Given the description of an element on the screen output the (x, y) to click on. 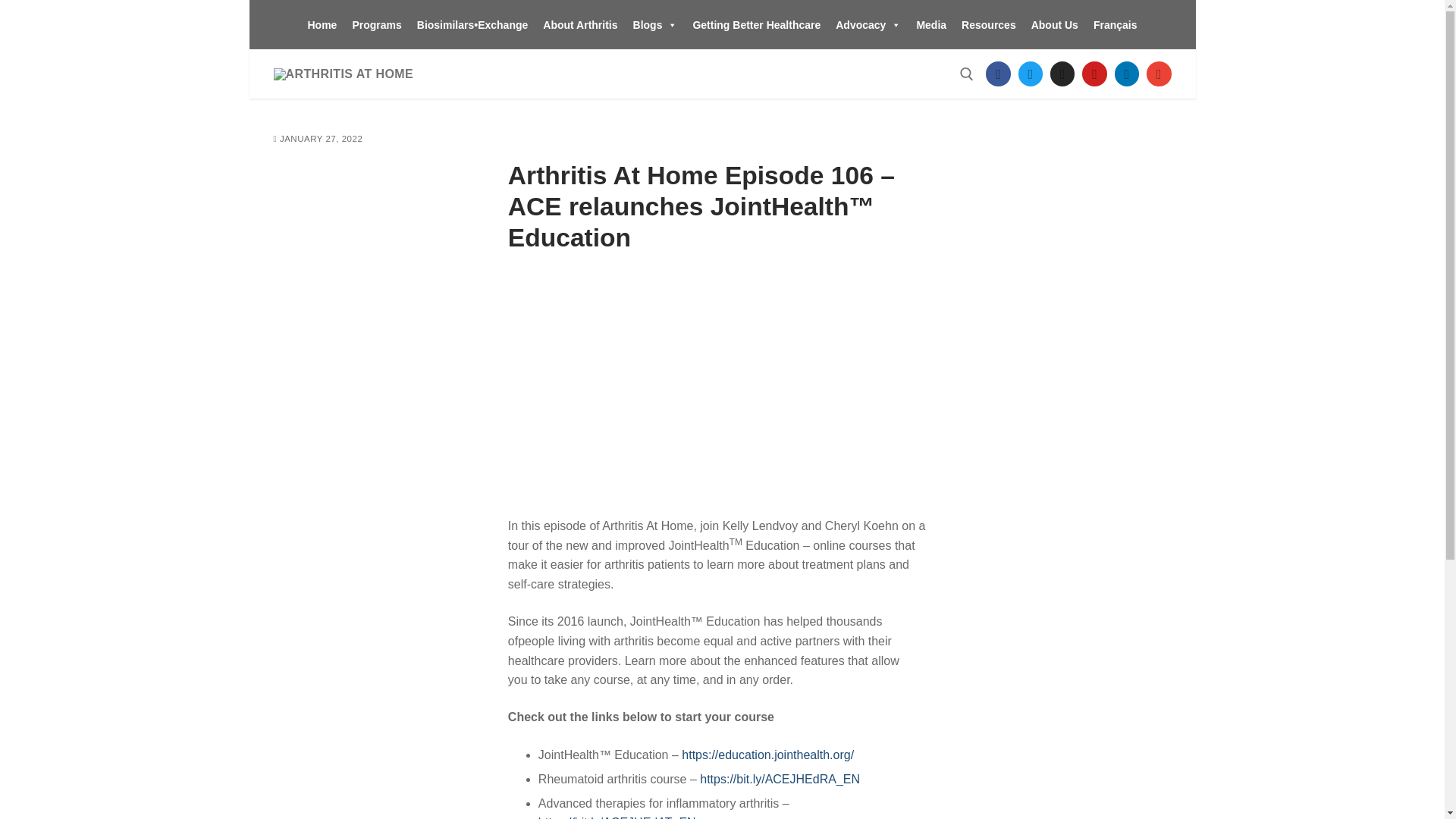
About Us (1054, 24)
Youtube (1094, 73)
Getting Better Healthcare (756, 24)
Advocacy (868, 24)
Email (1158, 73)
Facebook (997, 73)
YouTube player (718, 385)
Instagram (1061, 73)
Home (322, 24)
Programs (376, 24)
